Given the description of an element on the screen output the (x, y) to click on. 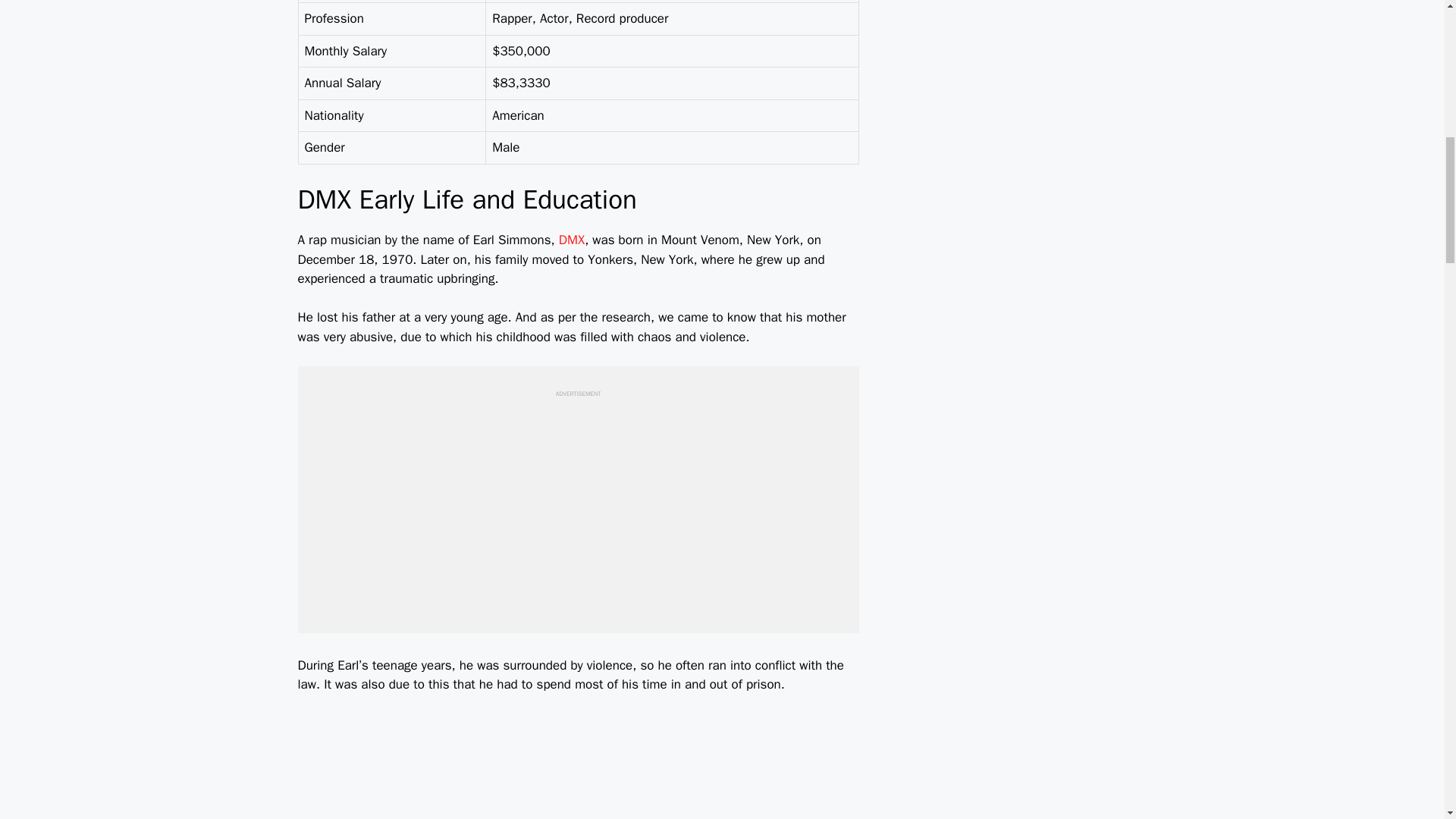
DMX (572, 239)
Advertisement (577, 504)
